Given the description of an element on the screen output the (x, y) to click on. 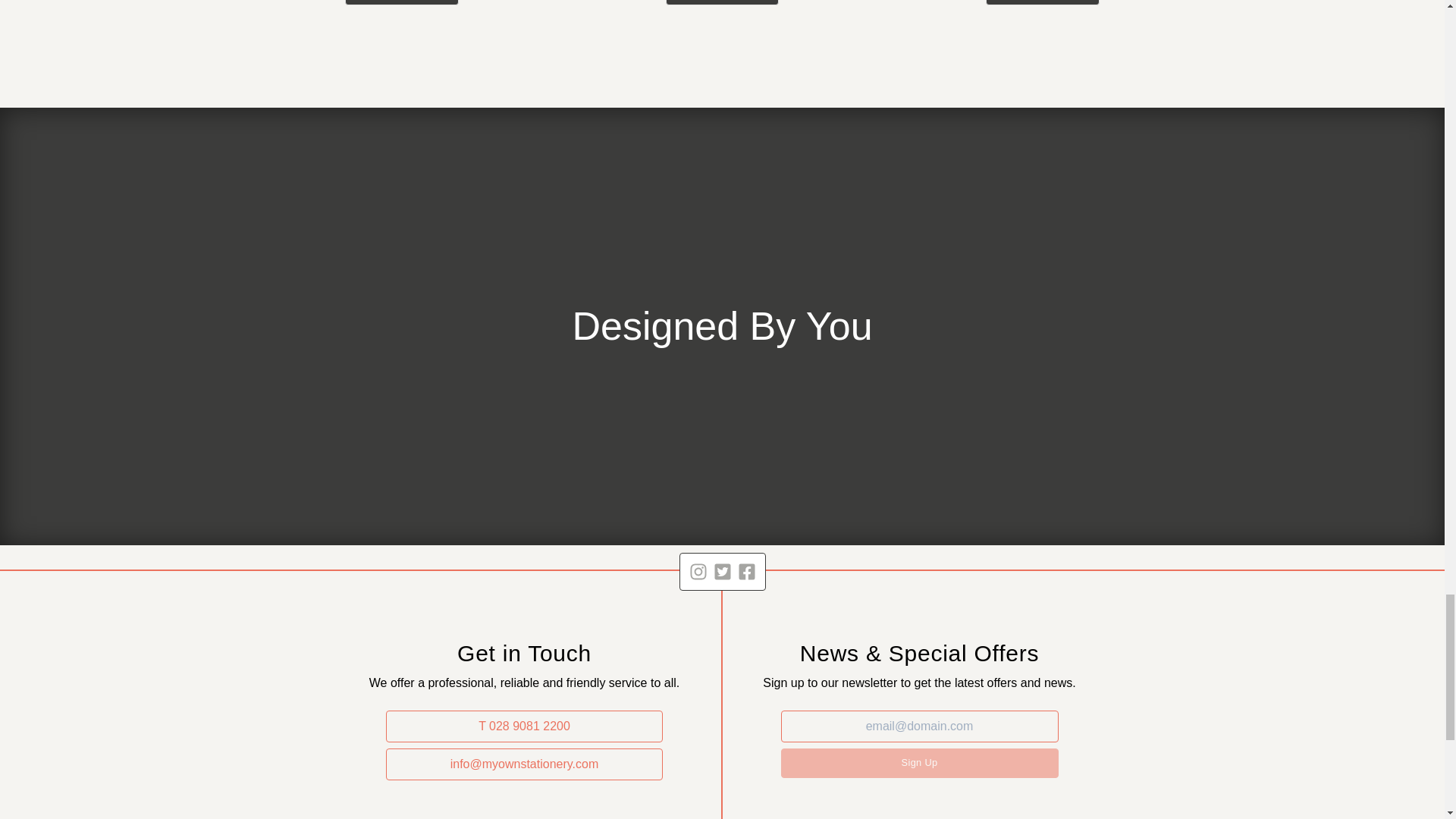
Start Designing (721, 2)
Sign Up (919, 763)
Start Designing (401, 2)
Start Designing (1042, 2)
